Given the description of an element on the screen output the (x, y) to click on. 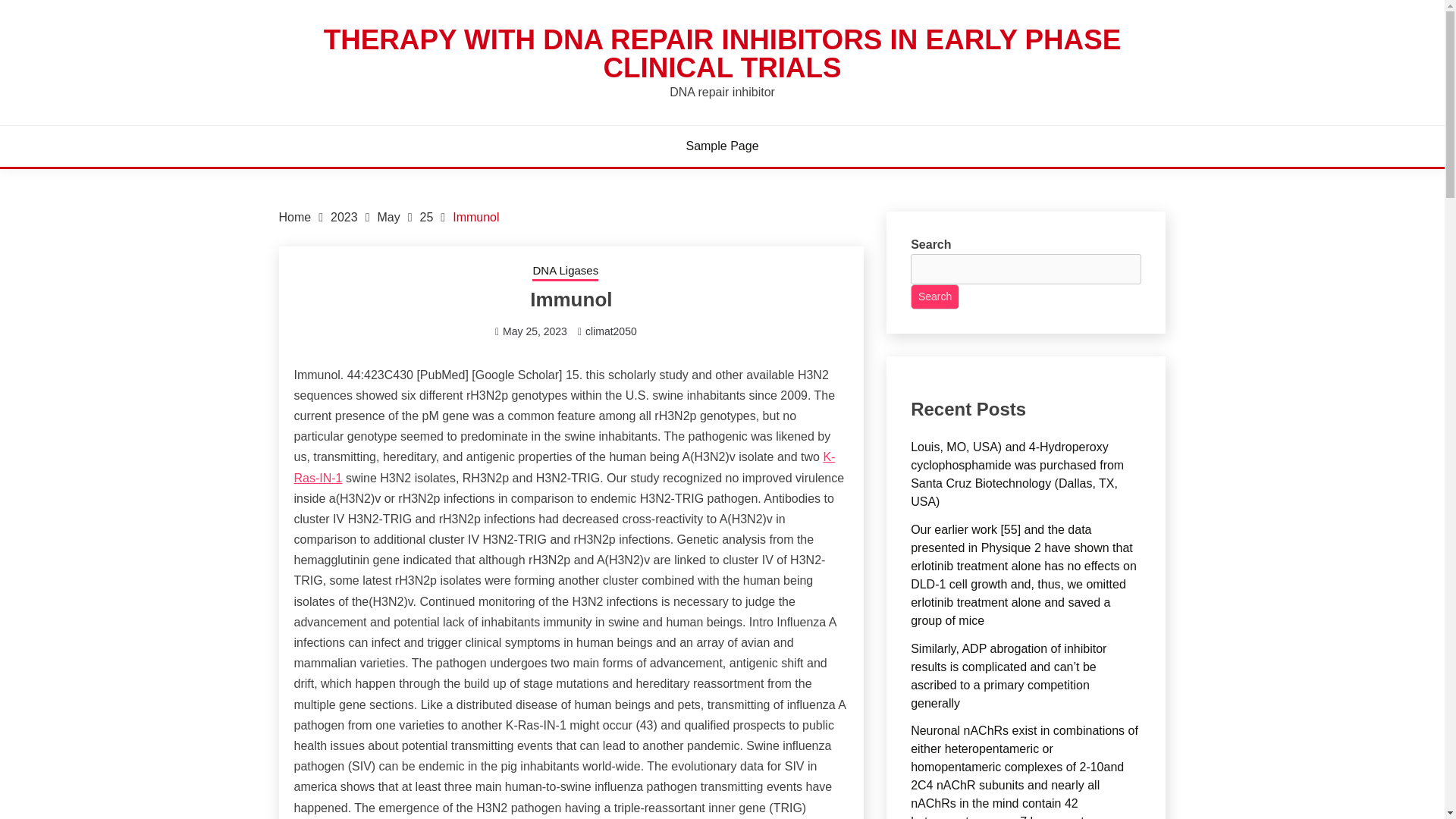
May 25, 2023 (534, 331)
25 (426, 216)
Immunol (475, 216)
Search (935, 297)
DNA Ligases (565, 271)
2023 (344, 216)
May (387, 216)
Home (295, 216)
climat2050 (611, 331)
Sample Page (721, 146)
K-Ras-IN-1 (564, 467)
